Given the description of an element on the screen output the (x, y) to click on. 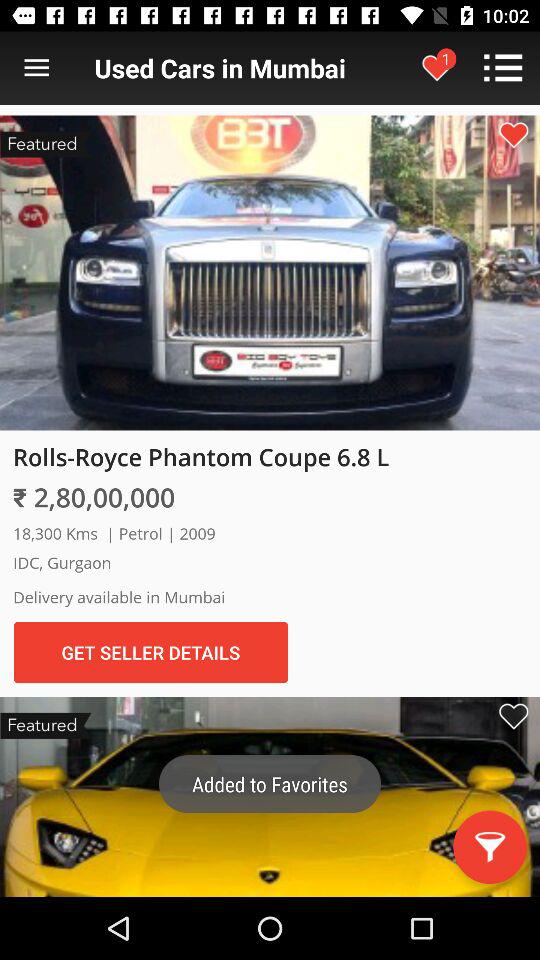
add to favorites (513, 134)
